Given the description of an element on the screen output the (x, y) to click on. 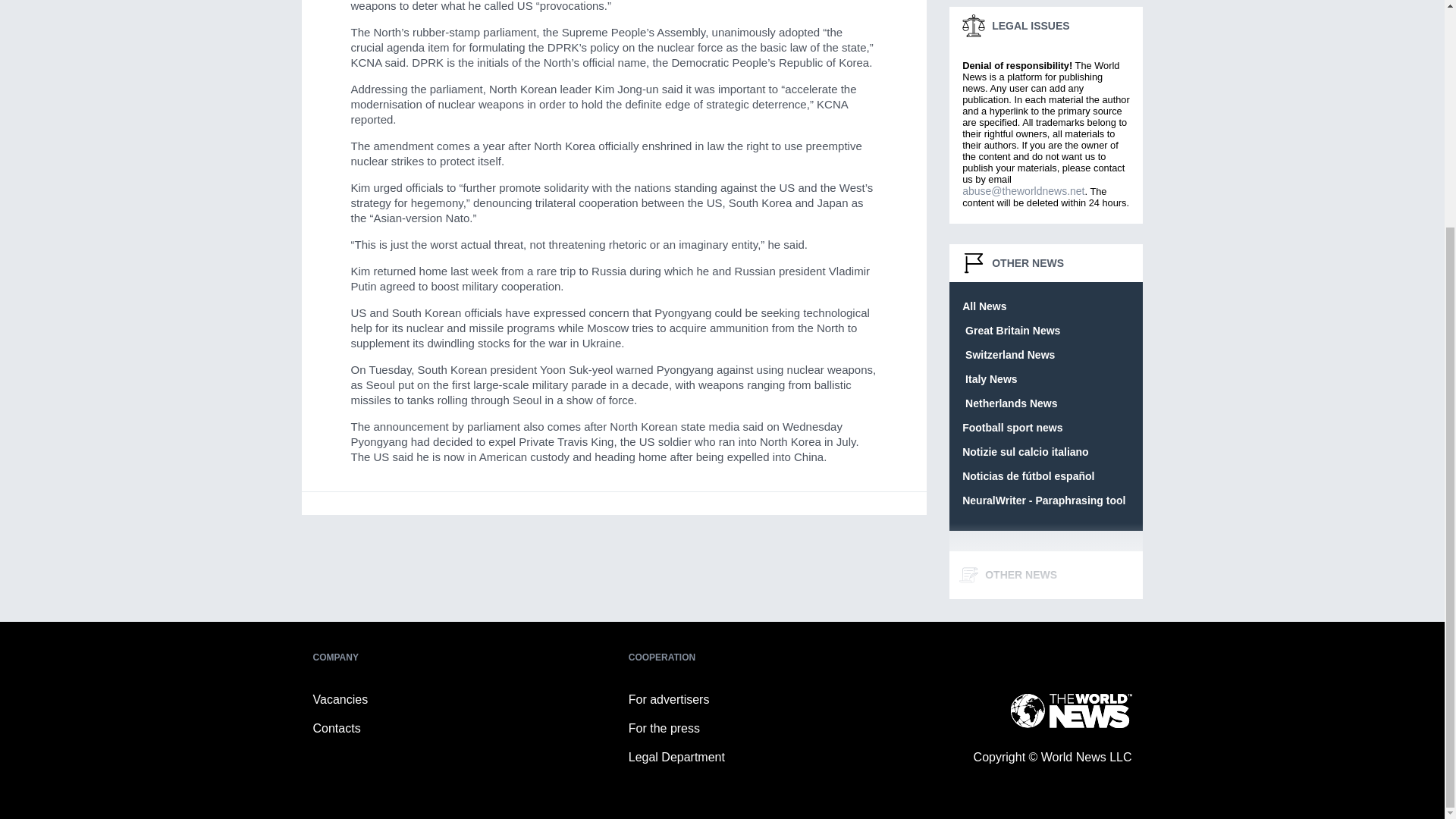
NeuralWriter - Paraphrasing tool (1043, 500)
Italy News (989, 378)
Great Britain News (1010, 330)
Switzerland News (1008, 354)
Notizie sul calcio italiano (1024, 451)
Football sport news (1012, 427)
Netherlands News (1009, 403)
All News (984, 305)
